Given the description of an element on the screen output the (x, y) to click on. 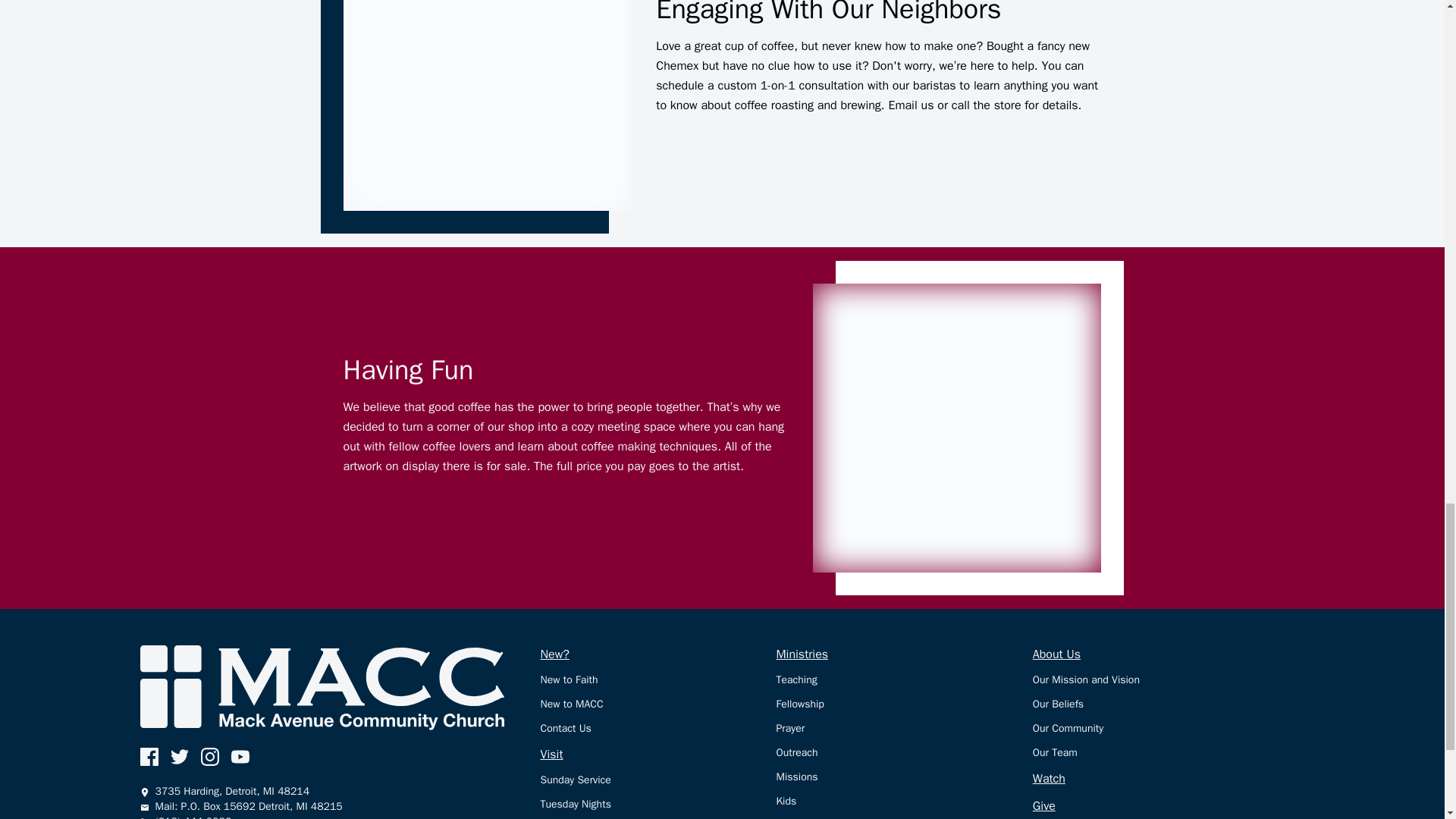
directions (321, 816)
Missions (904, 781)
New to Faith (658, 684)
directions (321, 791)
Give (1168, 807)
New to MACC (658, 708)
Outreach (904, 757)
Tuesday Nights (658, 807)
instagram (209, 756)
Prayer (904, 733)
